Given the description of an element on the screen output the (x, y) to click on. 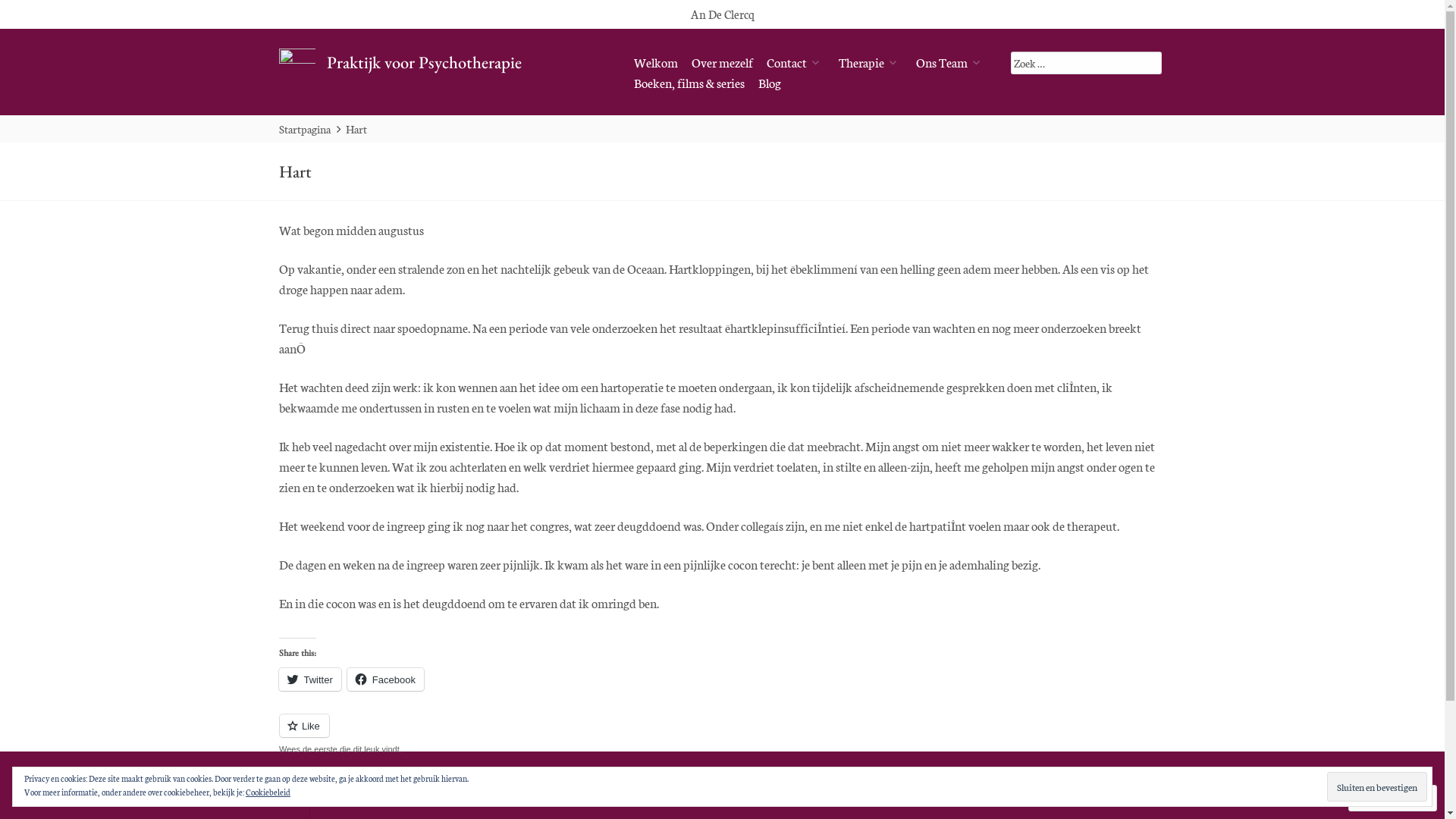
Cookiebeleid Element type: text (267, 791)
Sluiten en bevestigen Element type: text (1377, 786)
Vind-ik-leuk of reblog Element type: hover (722, 734)
Startpagina Element type: text (305, 128)
Facebook Element type: text (385, 679)
Praktijk voor Psychotherapie Element type: text (400, 63)
Over mezelf Element type: text (722, 61)
Twitter Element type: text (310, 679)
Contact Element type: text (794, 61)
Welkom Element type: text (655, 61)
Volg Element type: text (1377, 797)
Therapie Element type: text (870, 61)
Zoek op: Element type: hover (1085, 62)
Blog Element type: text (769, 81)
Boeken, films & series Element type: text (688, 81)
Ons Team Element type: text (950, 61)
Zoeken Element type: text (29, 16)
